Given the description of an element on the screen output the (x, y) to click on. 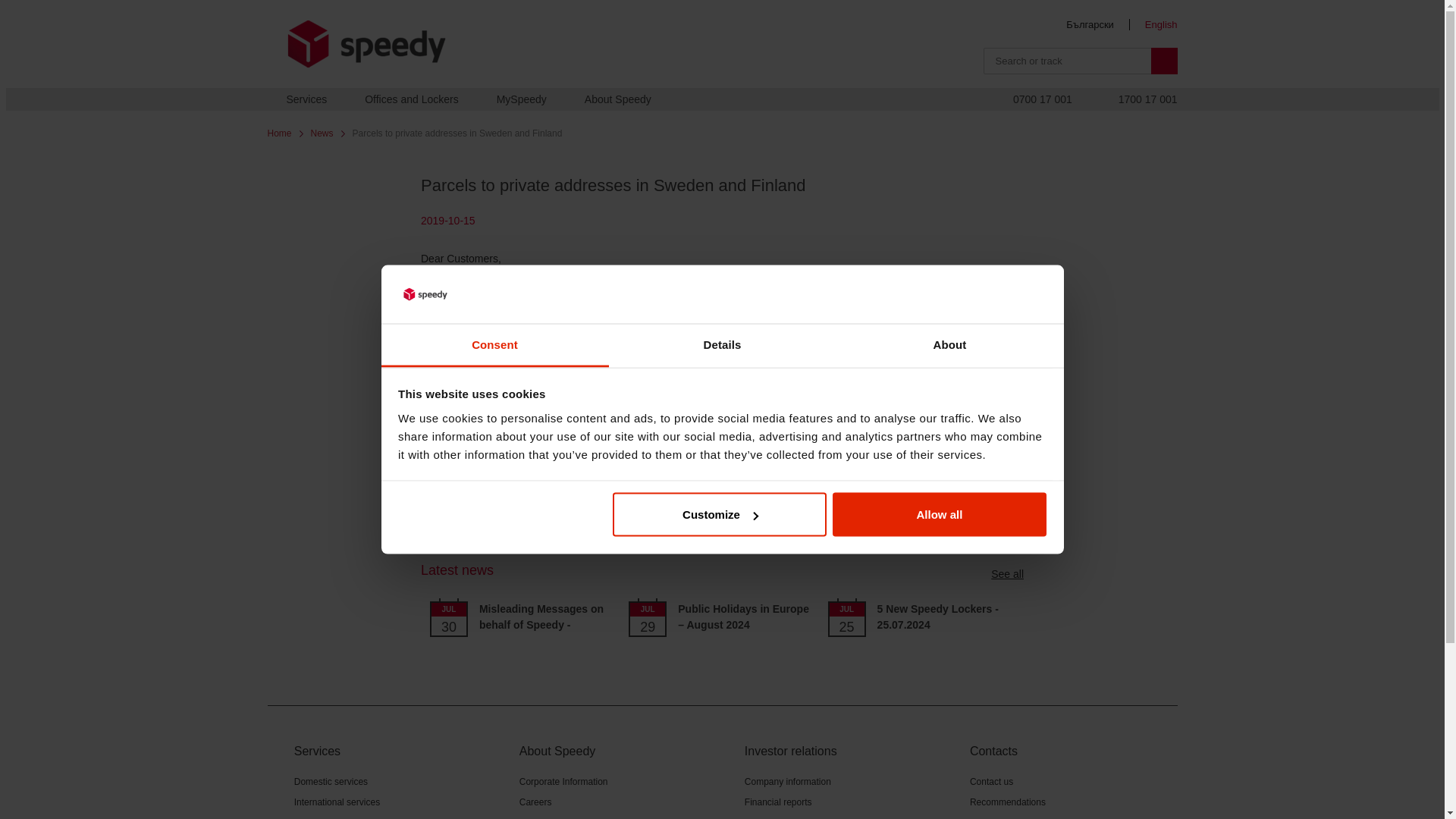
Details (721, 344)
Customize (719, 515)
Allow all (939, 515)
Consent (494, 344)
About (948, 344)
